Given the description of an element on the screen output the (x, y) to click on. 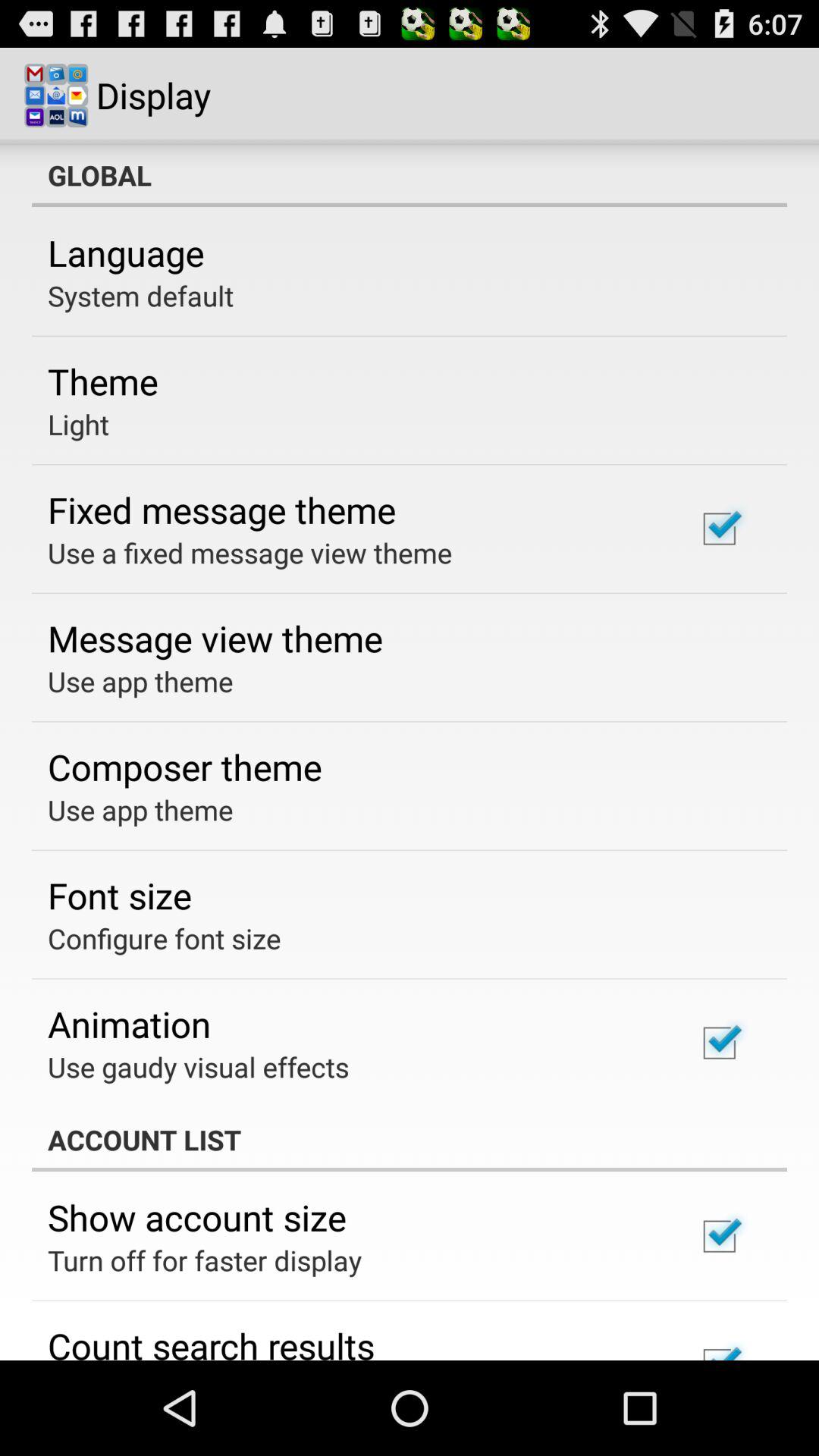
click icon above the theme (140, 295)
